Given the description of an element on the screen output the (x, y) to click on. 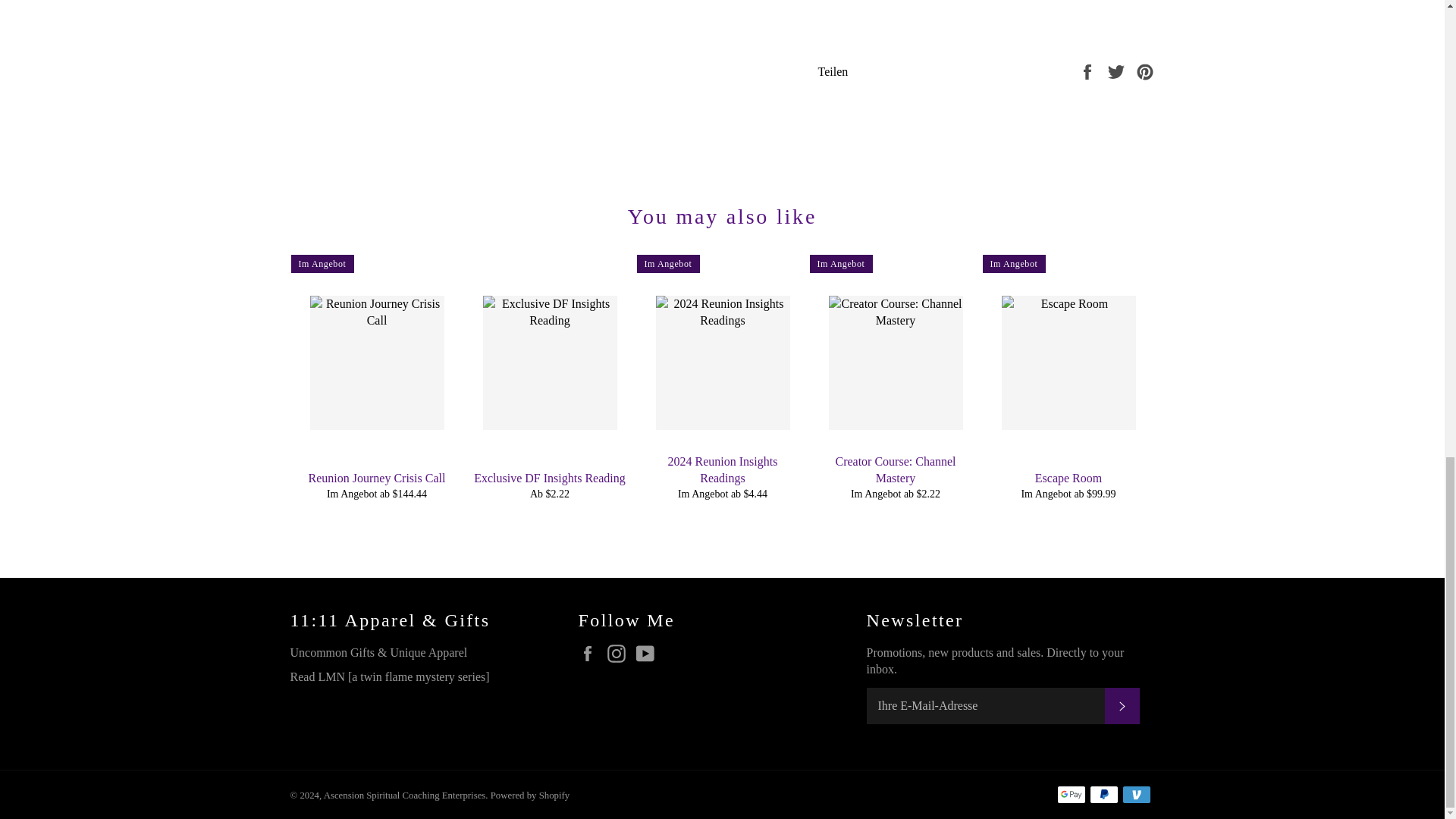
Auf Twitter twittern (1117, 70)
Ascension Spiritual Coaching Enterprises auf YouTube (647, 653)
Auf Facebook teilen (1088, 70)
Ascension Spiritual Coaching Enterprises auf Instagram (619, 653)
Auf Pinterest pinnen (1144, 70)
Ascension Spiritual Coaching Enterprises auf Facebook (591, 653)
